Given the description of an element on the screen output the (x, y) to click on. 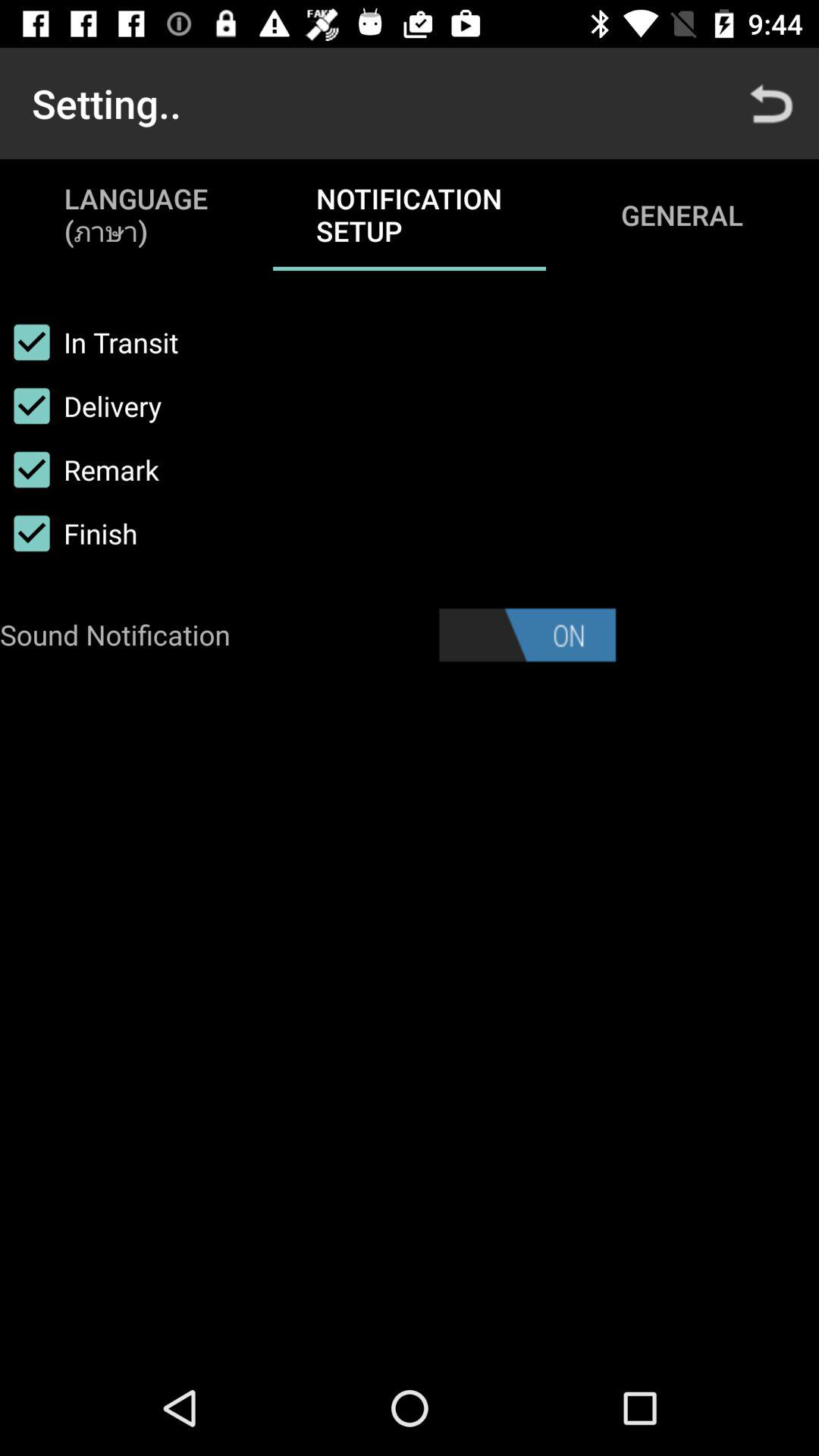
launch app to the right of sound notification app (527, 634)
